Given the description of an element on the screen output the (x, y) to click on. 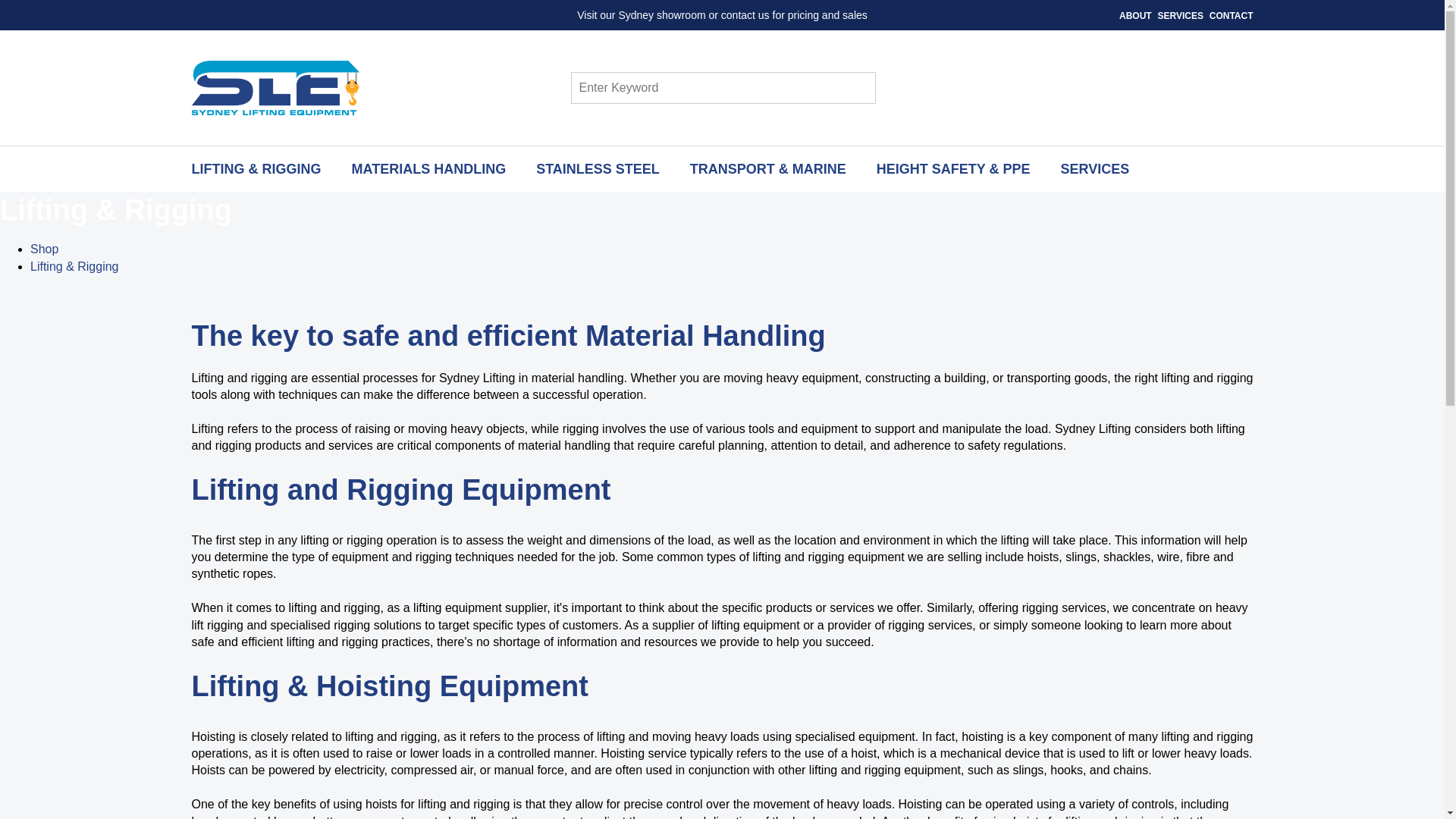
Enter Keyword (700, 87)
SERVICES (1179, 15)
ABOUT (1135, 15)
Sydney Lifting Equipment (274, 87)
CONTACT (1231, 15)
MATERIALS HANDLING (428, 168)
